Given the description of an element on the screen output the (x, y) to click on. 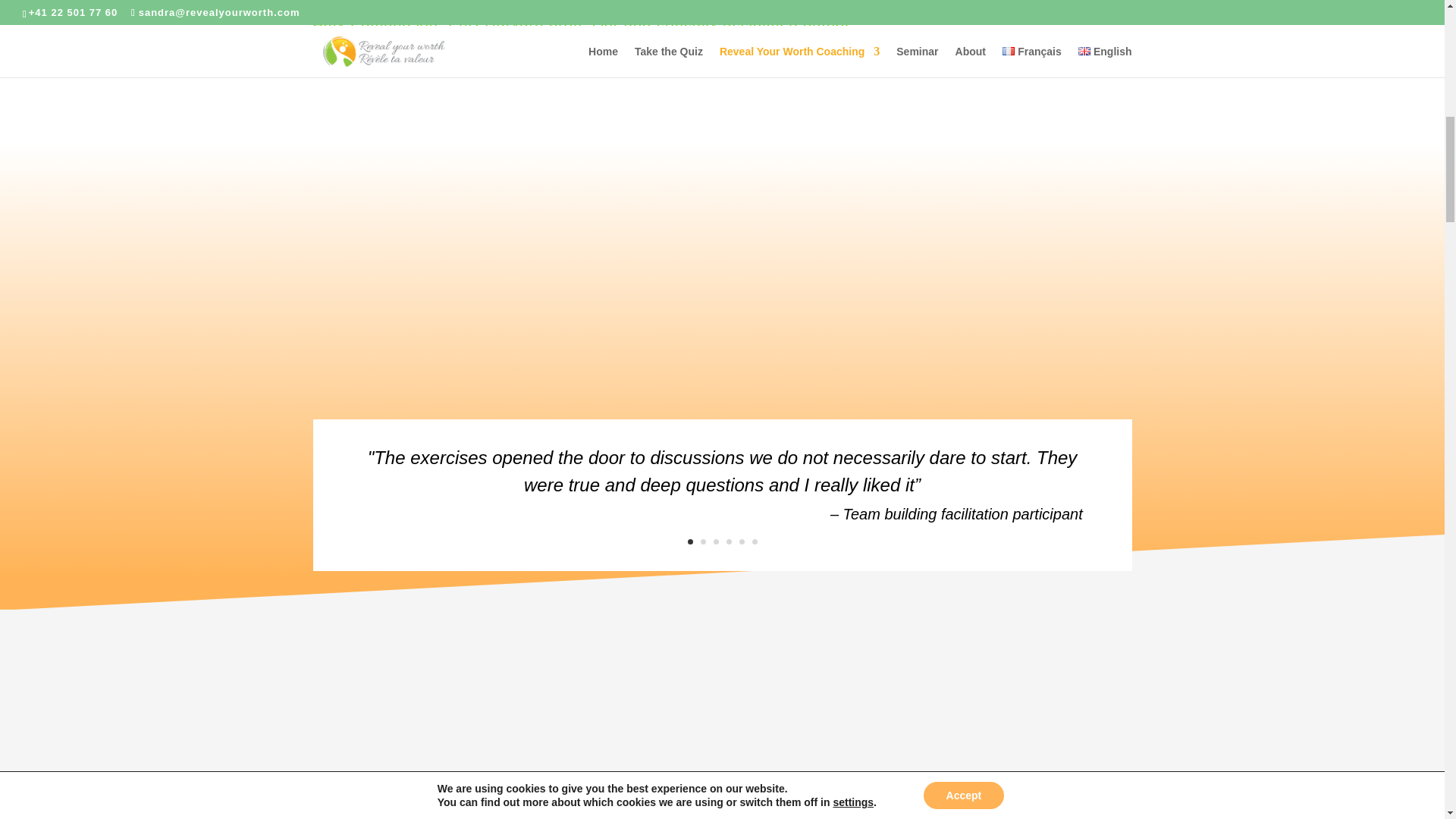
1 (690, 541)
4 (729, 541)
5 (741, 541)
2 (703, 541)
